Given the description of an element on the screen output the (x, y) to click on. 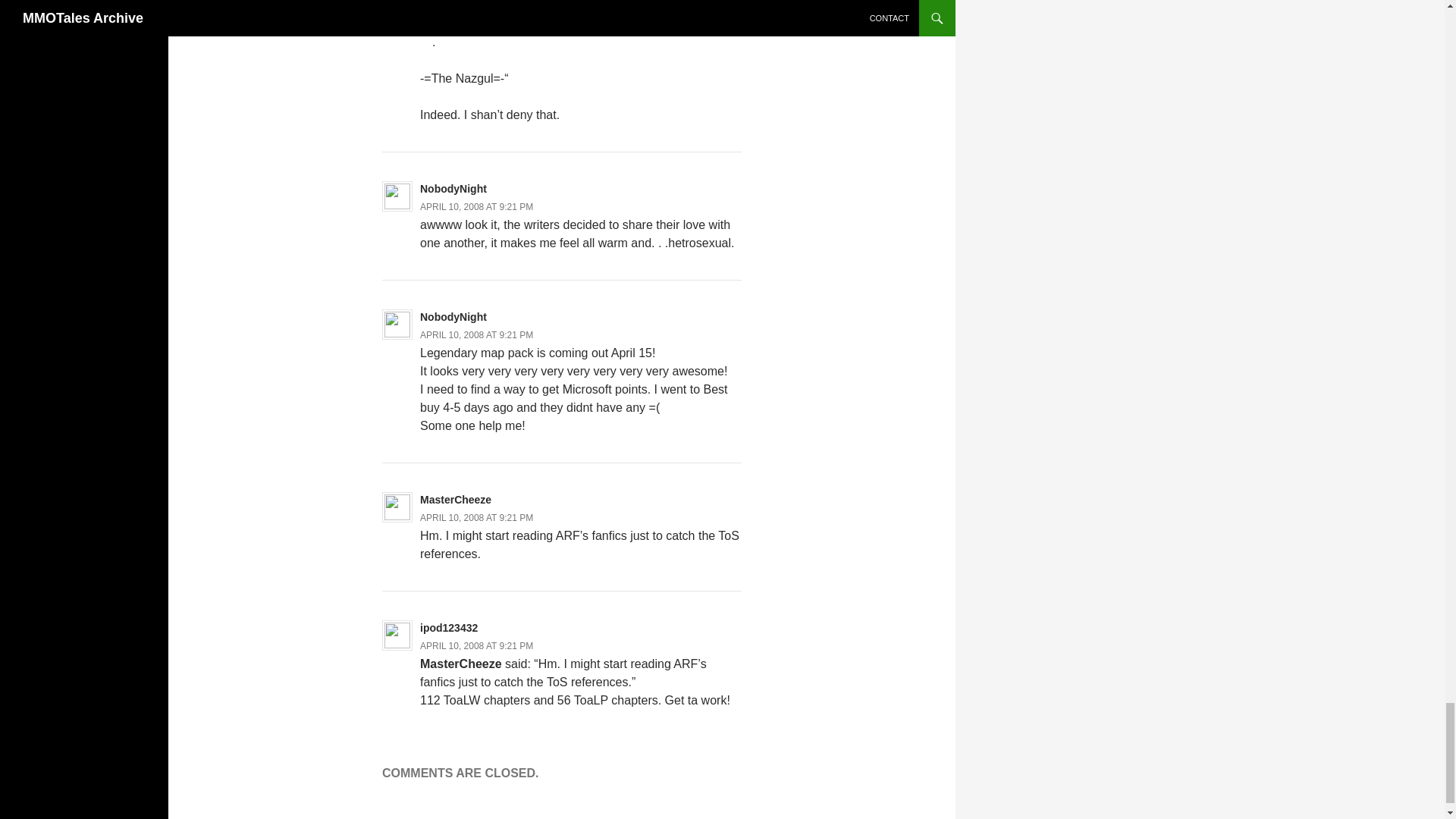
APRIL 10, 2008 AT 9:21 PM (476, 206)
APRIL 10, 2008 AT 9:21 PM (476, 5)
APRIL 10, 2008 AT 9:21 PM (476, 517)
APRIL 10, 2008 AT 9:21 PM (476, 645)
APRIL 10, 2008 AT 9:21 PM (476, 335)
